Given the description of an element on the screen output the (x, y) to click on. 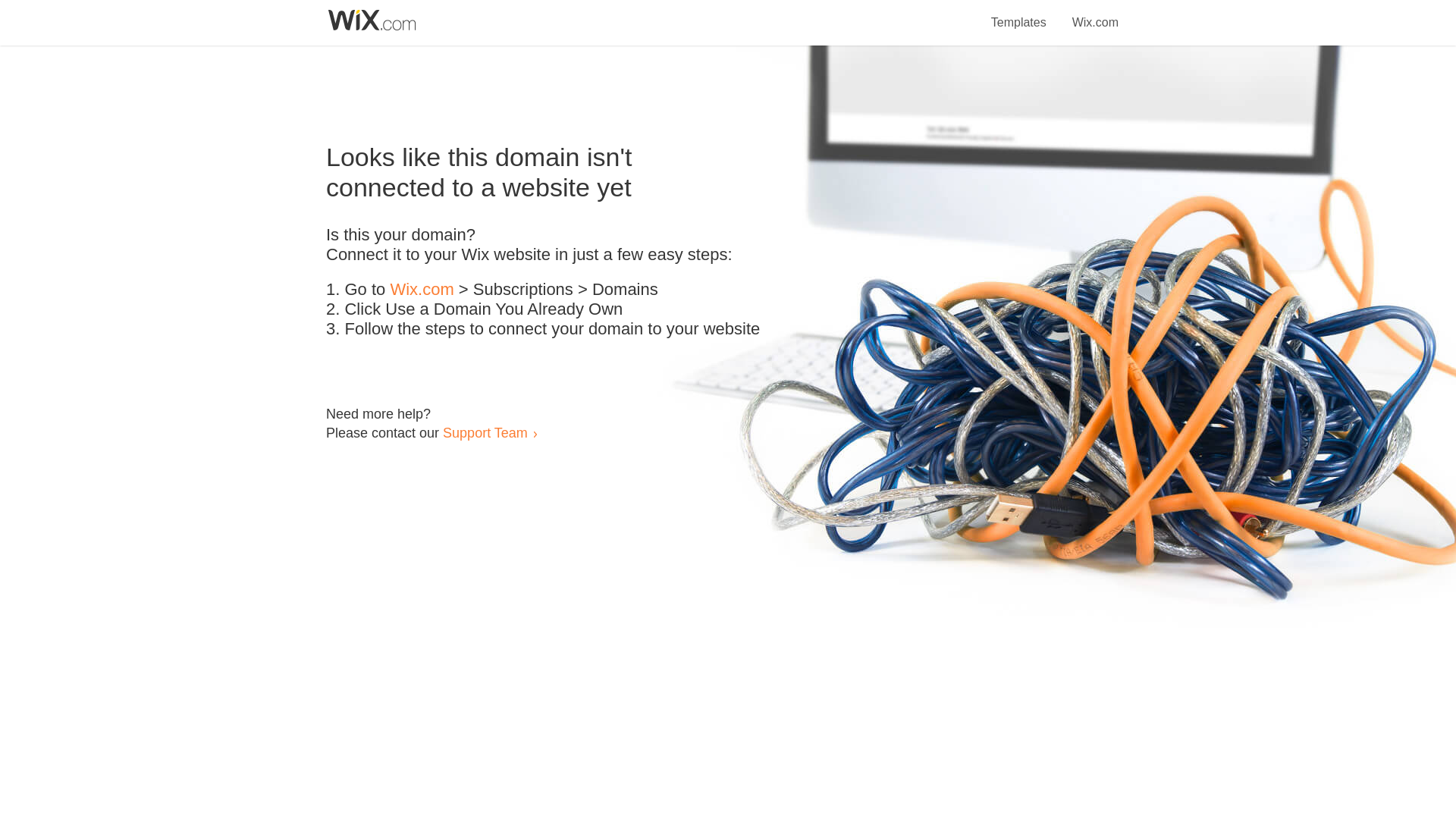
Wix.com (421, 289)
Wix.com (1095, 14)
Templates (1018, 14)
Support Team (484, 432)
